Given the description of an element on the screen output the (x, y) to click on. 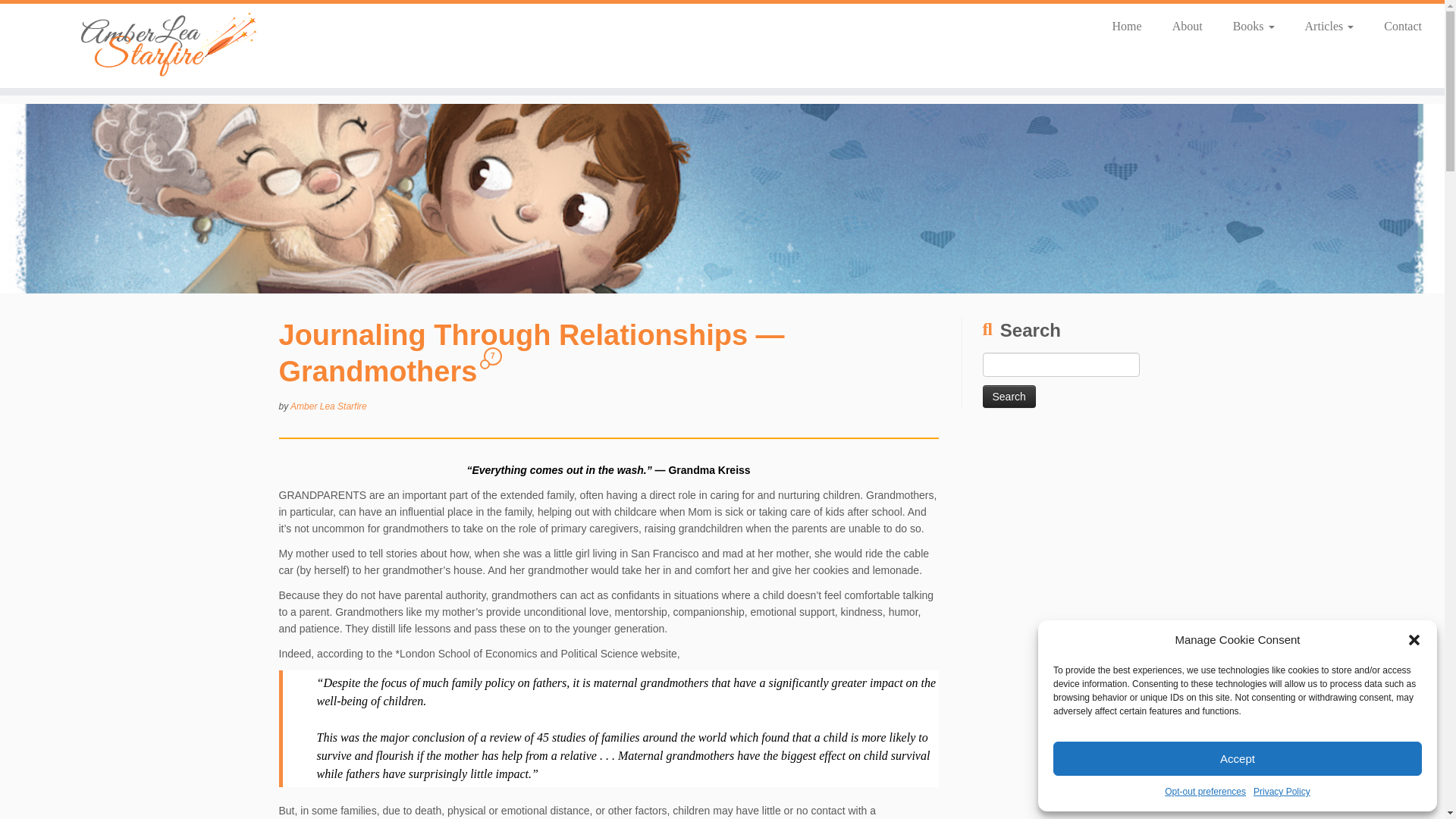
Home (1127, 26)
Search (1008, 395)
Books (1253, 26)
Articles (1330, 26)
Privacy Policy (1281, 791)
About (1187, 26)
Opt-out preferences (1205, 791)
Accept (1237, 758)
View all posts by Amber Lea Starfire (327, 406)
